Given the description of an element on the screen output the (x, y) to click on. 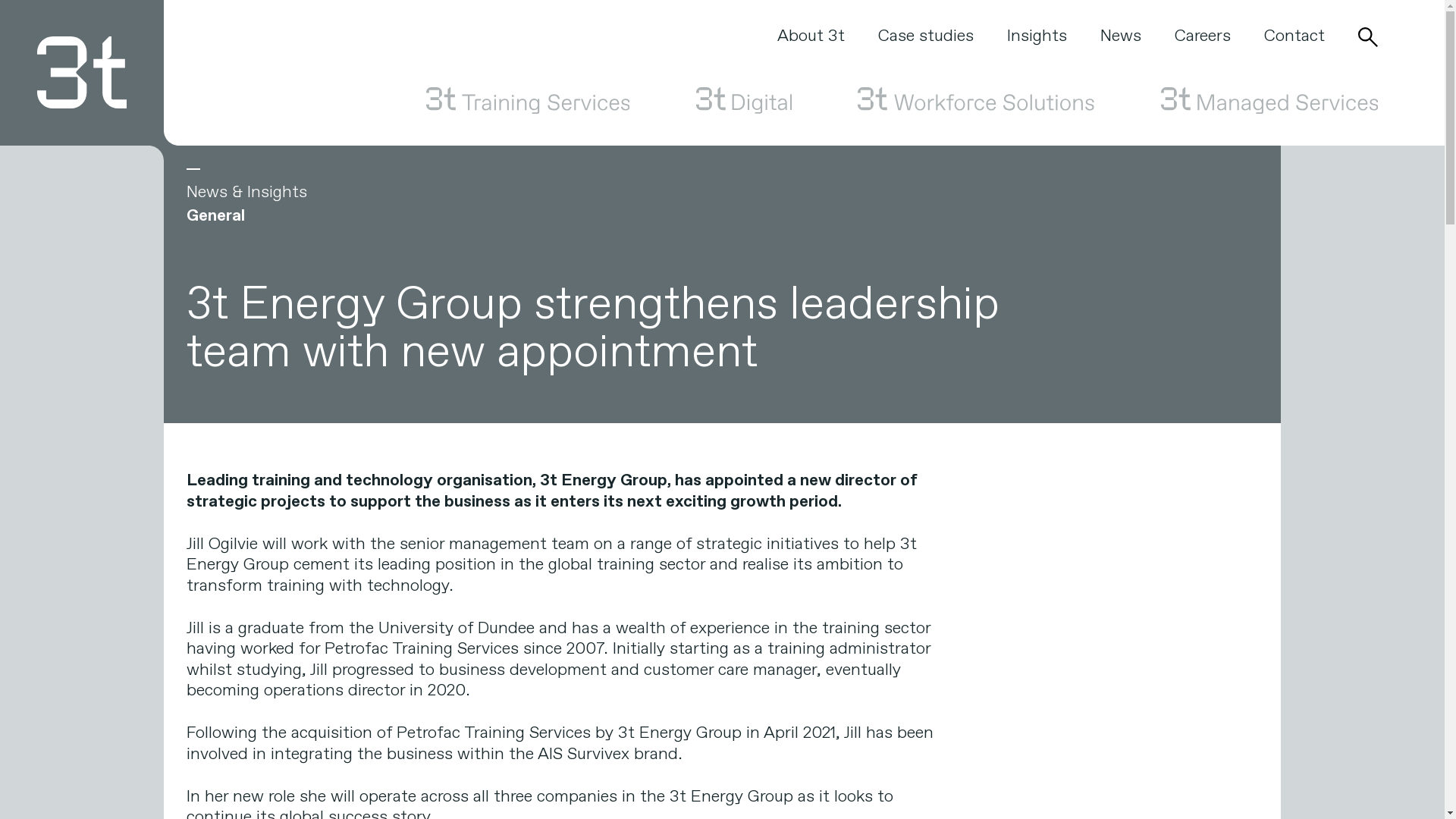
Contact Element type: text (1294, 36)
Careers Element type: text (1202, 36)
About 3t Element type: text (810, 36)
Case studies Element type: text (925, 36)
Search Element type: text (1056, 243)
News Element type: text (1120, 36)
Search Element type: text (1367, 37)
Insights Element type: text (1036, 36)
News & Insights Element type: text (246, 186)
